Given the description of an element on the screen output the (x, y) to click on. 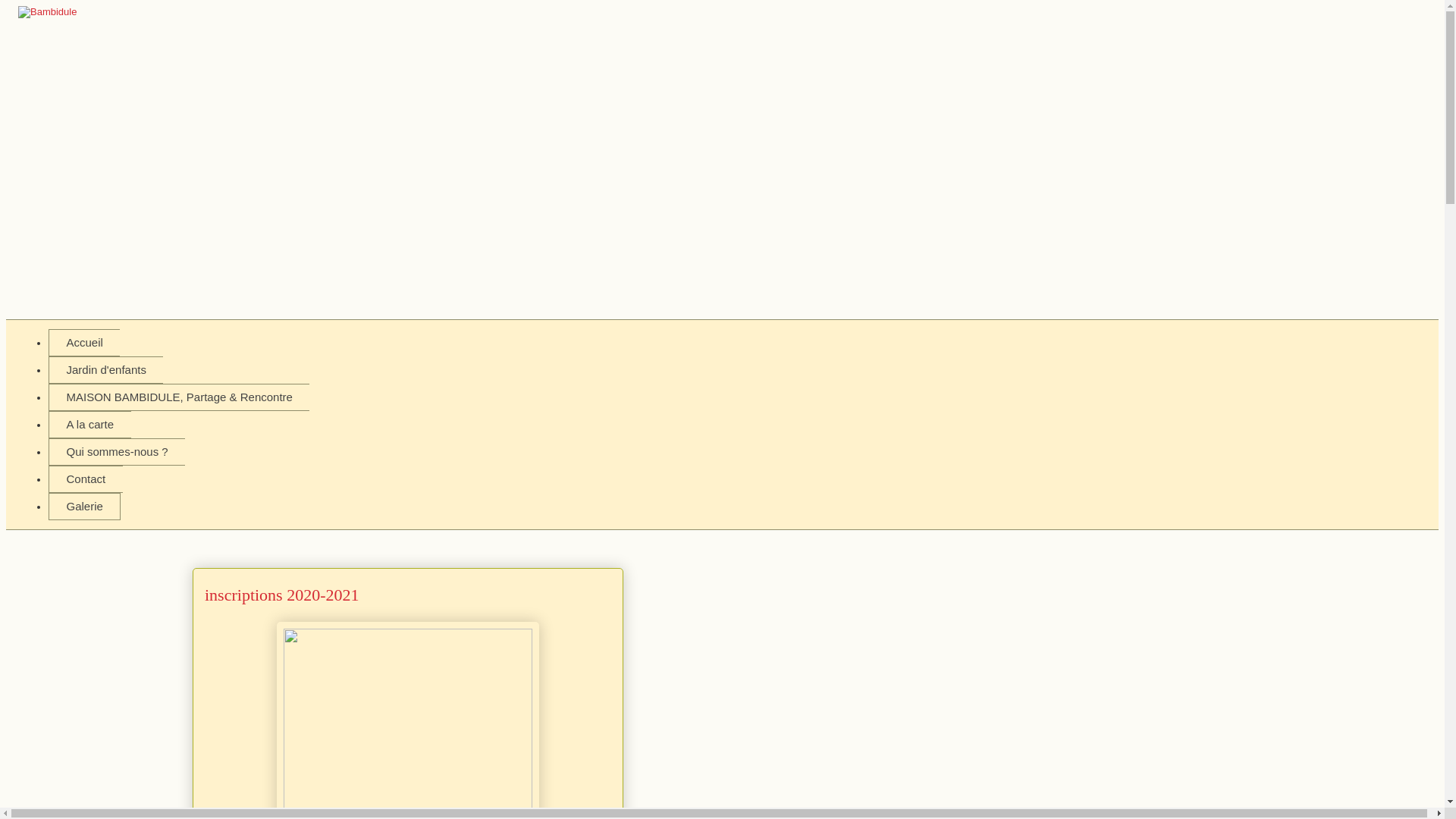
Jardin d'enfants Element type: text (105, 369)
Contact Element type: text (85, 478)
Galerie Element type: text (84, 506)
Accueil Element type: text (83, 342)
Qui sommes-nous ? Element type: text (116, 451)
A la carte Element type: text (89, 424)
MAISON BAMBIDULE, Partage & Rencontre Element type: text (178, 397)
